Given the description of an element on the screen output the (x, y) to click on. 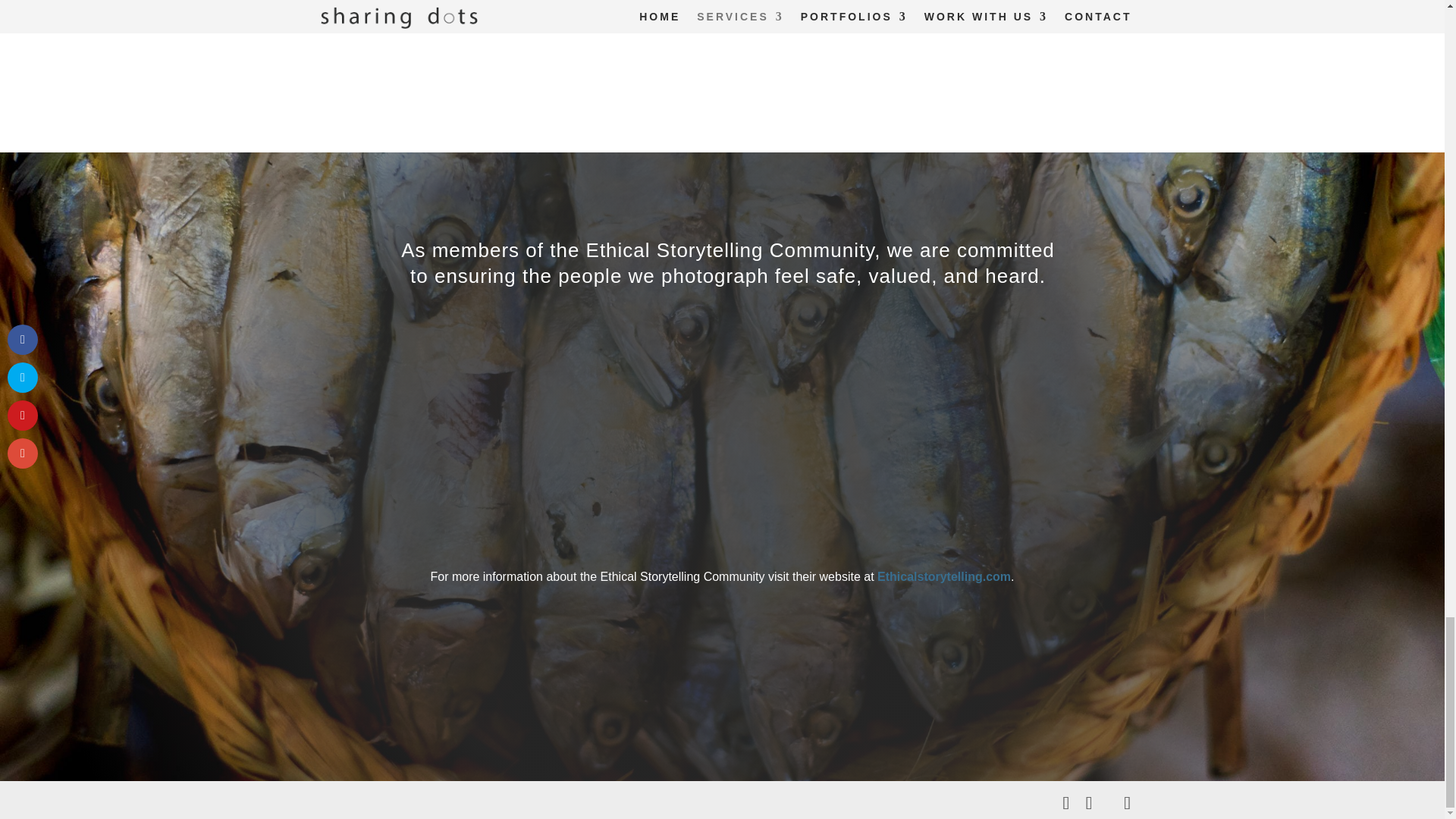
Ethicalstorytelling.com (943, 576)
